Given the description of an element on the screen output the (x, y) to click on. 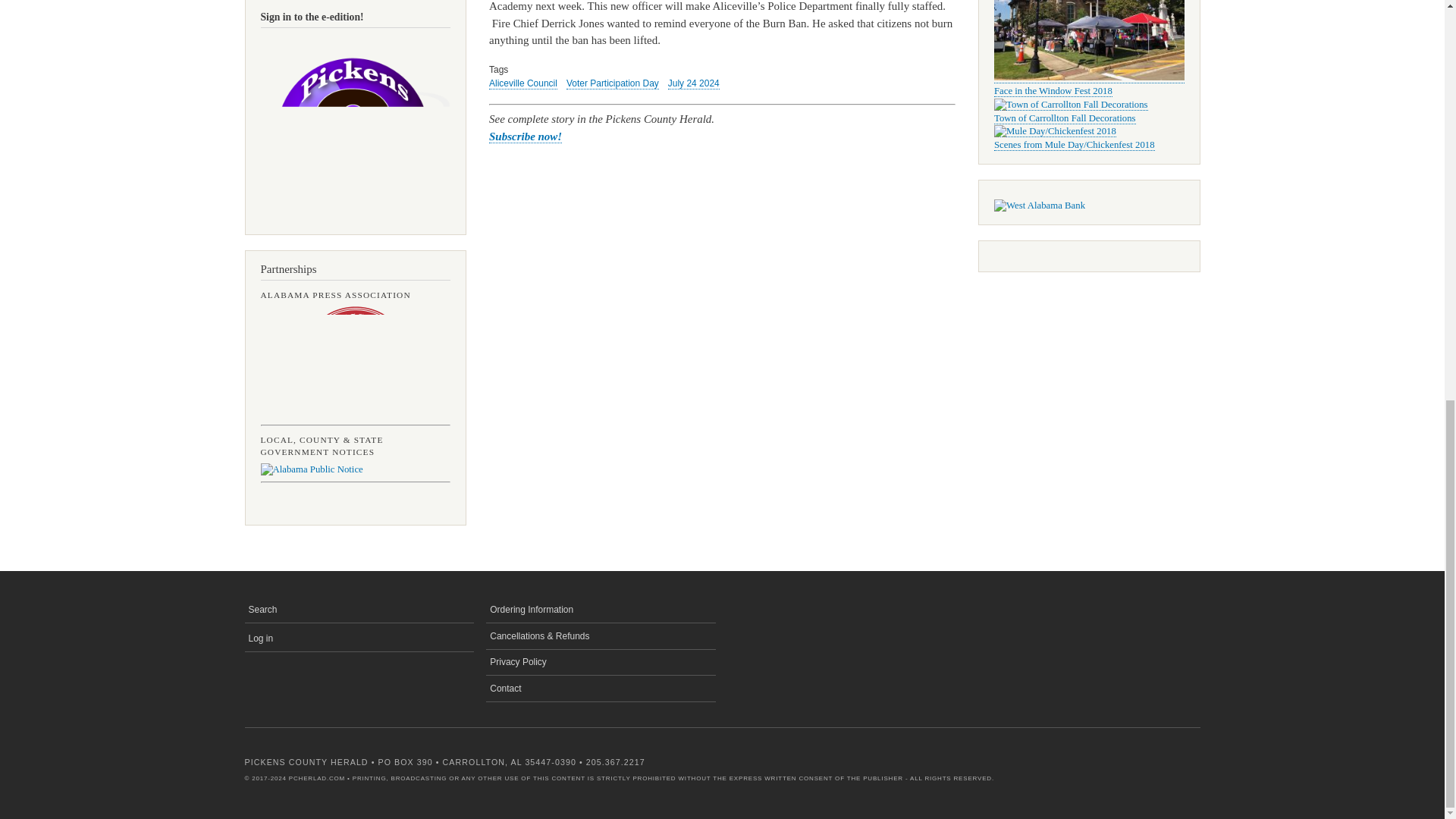
Subscribe now! (525, 136)
Face in the Window Fest (1089, 77)
Voter Participation Day (612, 83)
July 24 2024 (693, 83)
Aliceville Council (523, 83)
